Given the description of an element on the screen output the (x, y) to click on. 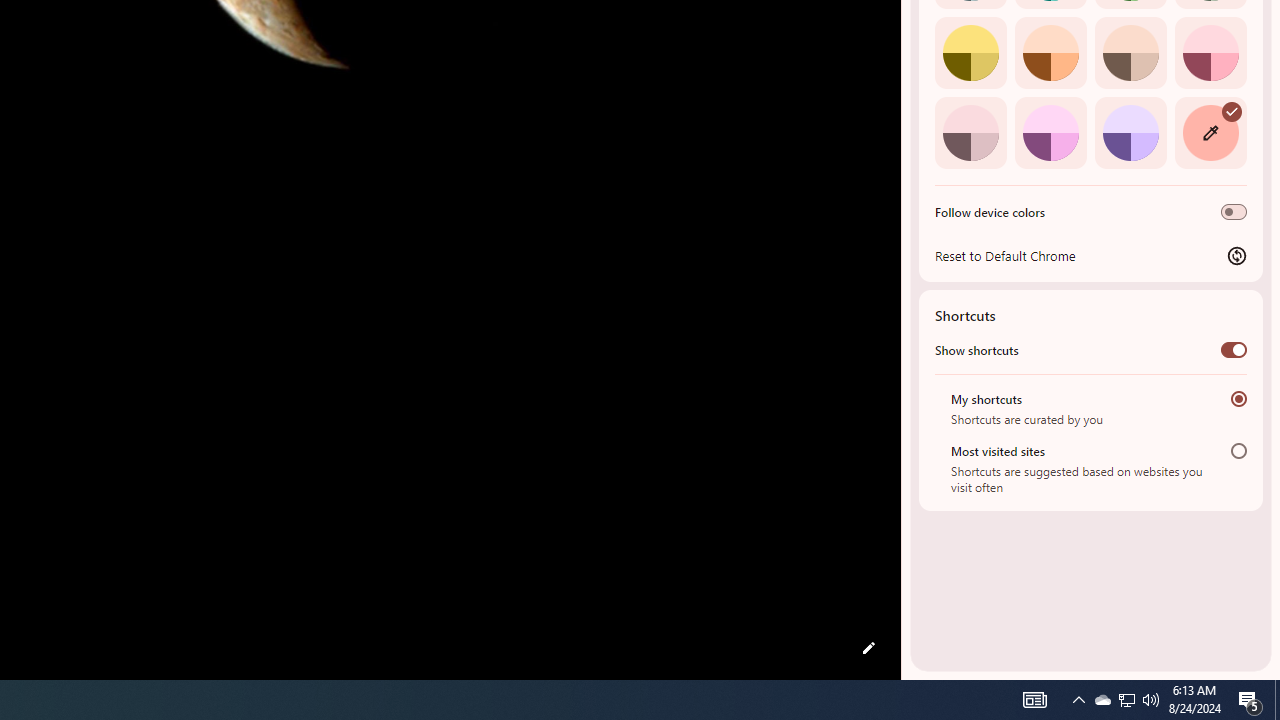
Orange (1050, 52)
Apricot (1130, 52)
